Given the description of an element on the screen output the (x, y) to click on. 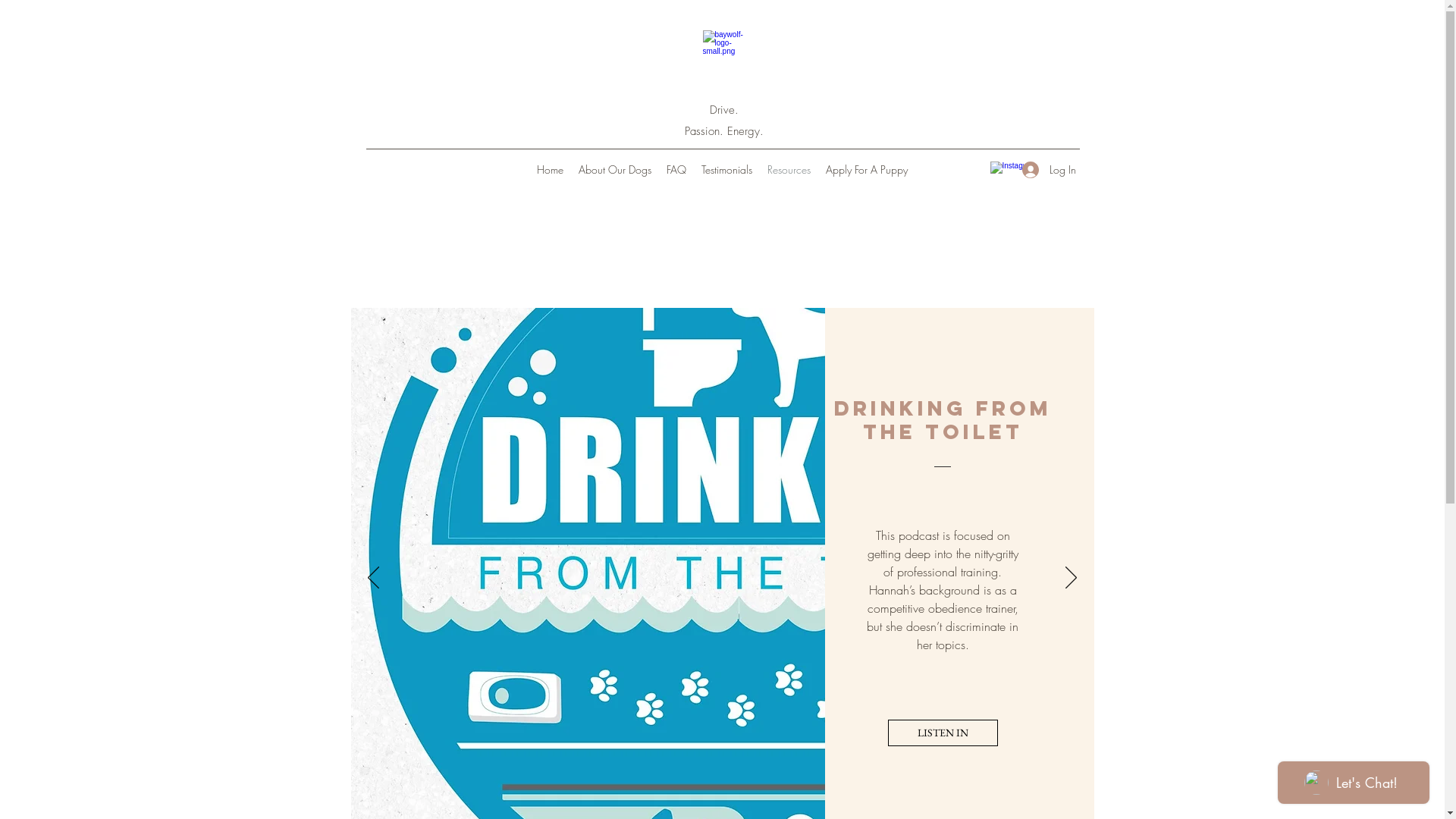
FAQ Element type: text (675, 169)
Testimonials Element type: text (726, 169)
Apply For A Puppy Element type: text (866, 169)
Log In Element type: text (1045, 169)
Home Element type: text (550, 169)
Resources Element type: text (788, 169)
About Our Dogs Element type: text (614, 169)
LISTEN IN Element type: text (942, 732)
